Given the description of an element on the screen output the (x, y) to click on. 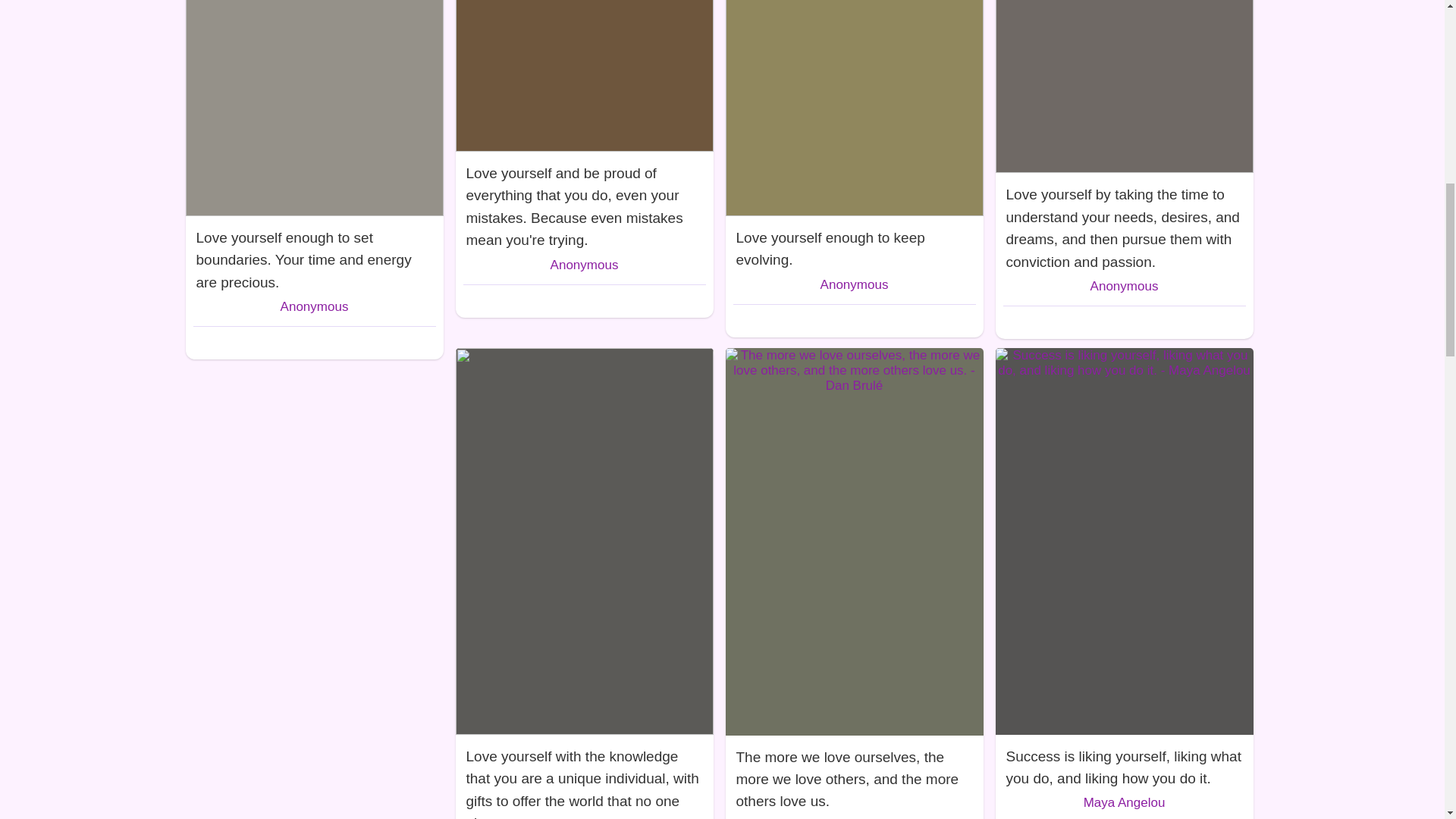
see quote (583, 203)
see quote (313, 256)
see quote (853, 245)
